Given the description of an element on the screen output the (x, y) to click on. 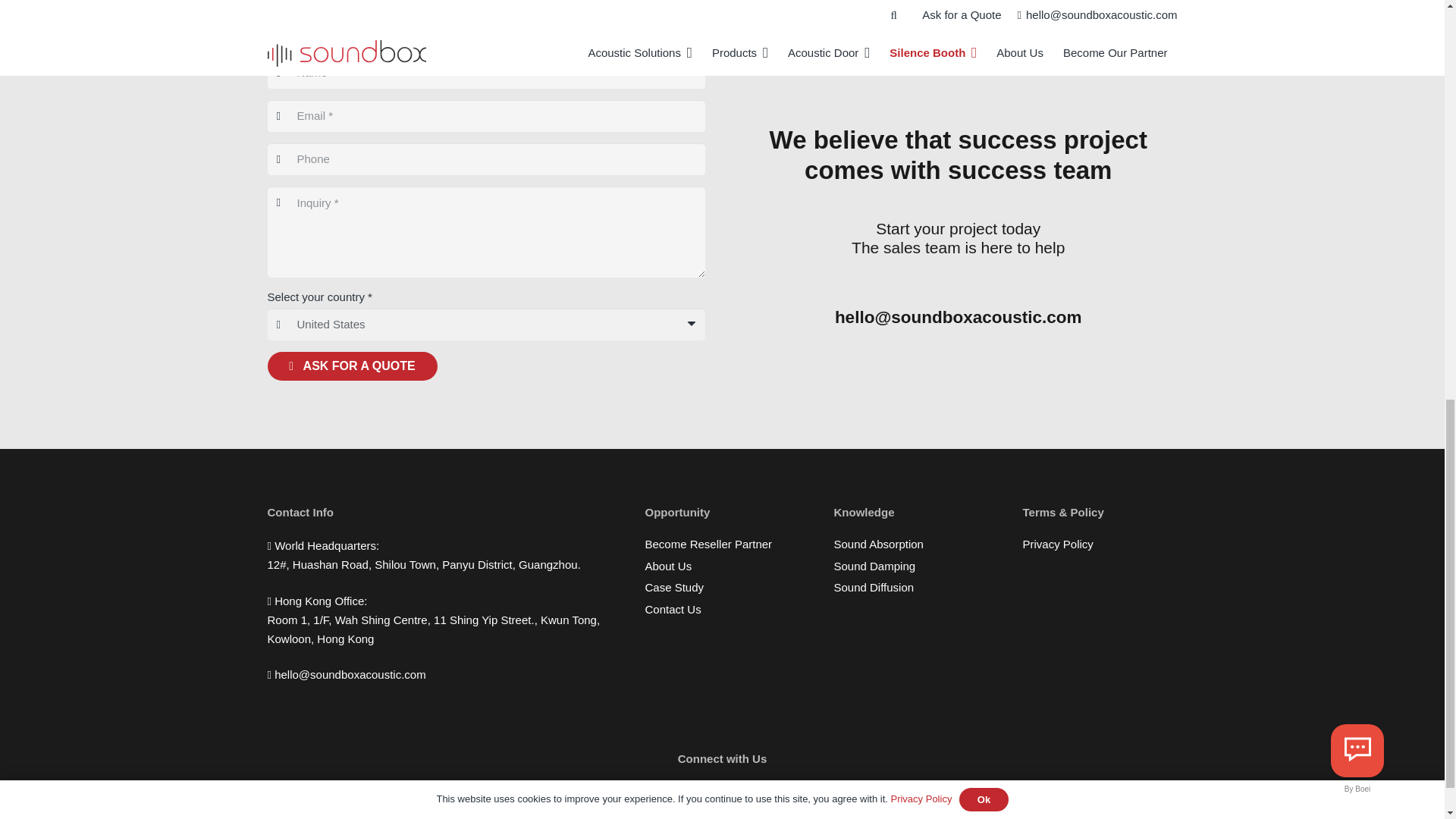
Instagram (740, 799)
LinkedIn (667, 799)
YouTube (776, 799)
Facebook (703, 799)
Back to top (1413, 26)
